Given the description of an element on the screen output the (x, y) to click on. 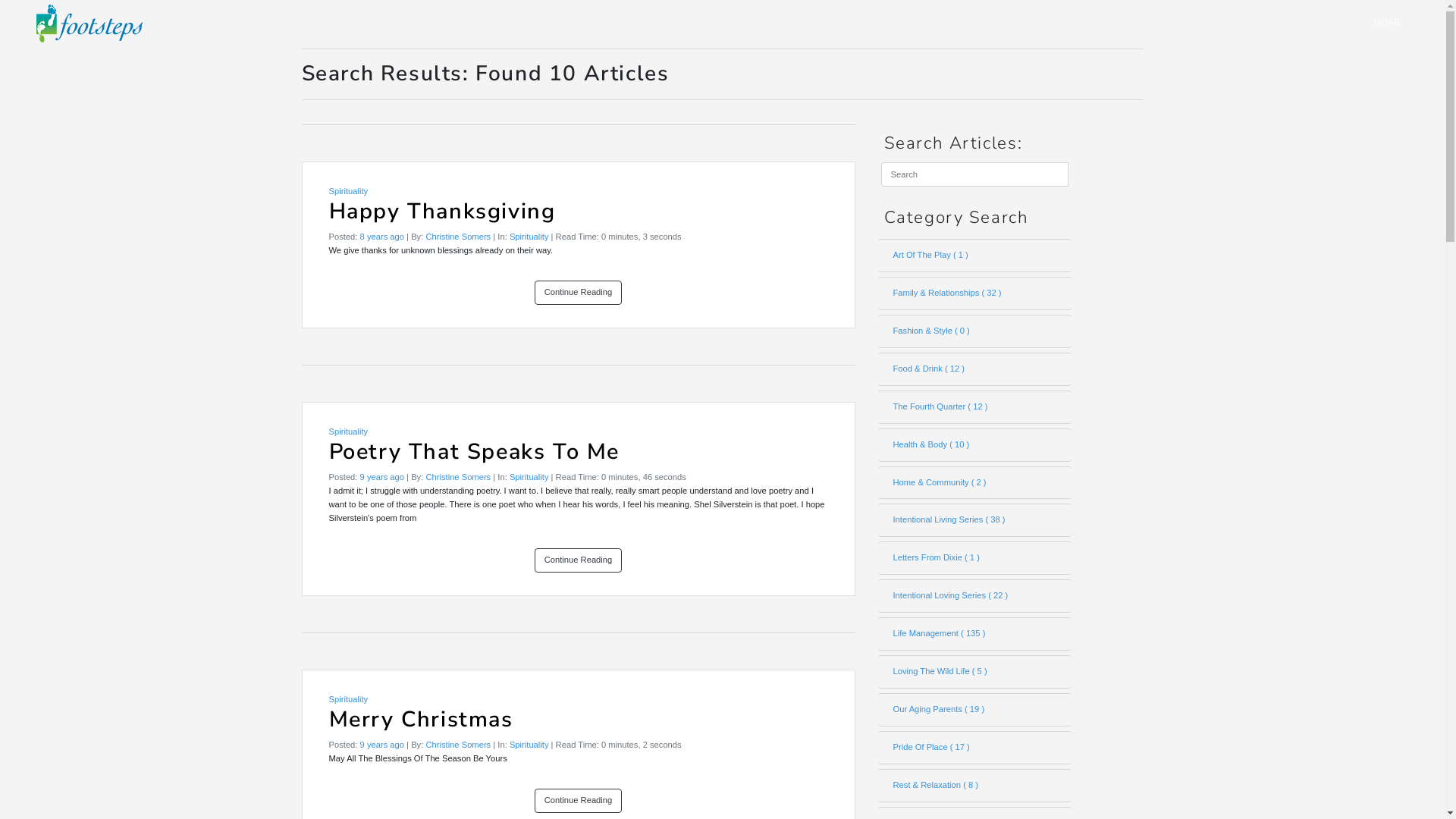
Christine Somers Element type: text (457, 476)
Continue Reading Element type: text (578, 800)
Loving The Wild Life ( 5 ) Element type: text (974, 671)
Spirituality Element type: text (529, 476)
Poetry That Speaks To Me Element type: text (578, 457)
HOME
(CURRENT) Element type: text (1387, 23)
Intentional Living Series ( 38 ) Element type: text (974, 519)
Continue Reading Element type: text (578, 560)
Merry Christmas Element type: text (578, 725)
9 years ago Element type: text (382, 744)
Family & Relationships ( 32 ) Element type: text (974, 293)
Home & Community ( 2 ) Element type: text (974, 482)
Food & Drink ( 12 ) Element type: text (974, 368)
Spirituality Element type: text (529, 236)
Pride Of Place ( 17 ) Element type: text (974, 747)
Christine Somers Element type: text (457, 236)
Life Management ( 135 ) Element type: text (974, 633)
Fashion & Style ( 0 ) Element type: text (974, 331)
Spirituality Element type: text (348, 431)
Happy Thanksgiving Element type: text (578, 217)
Spirituality Element type: text (348, 190)
Our Aging Parents ( 19 ) Element type: text (974, 709)
Spirituality Element type: text (348, 698)
8 years ago Element type: text (382, 236)
Continue Reading Element type: text (578, 292)
Intentional Loving Series ( 22 ) Element type: text (974, 595)
Spirituality Element type: text (529, 744)
Letters From Dixie ( 1 ) Element type: text (974, 557)
Christine Somers Element type: text (457, 744)
The Fourth Quarter ( 12 ) Element type: text (974, 406)
Rest & Relaxation ( 8 ) Element type: text (974, 785)
Health & Body ( 10 ) Element type: text (974, 444)
Art Of The Play ( 1 ) Element type: text (974, 255)
9 years ago Element type: text (382, 476)
